Given the description of an element on the screen output the (x, y) to click on. 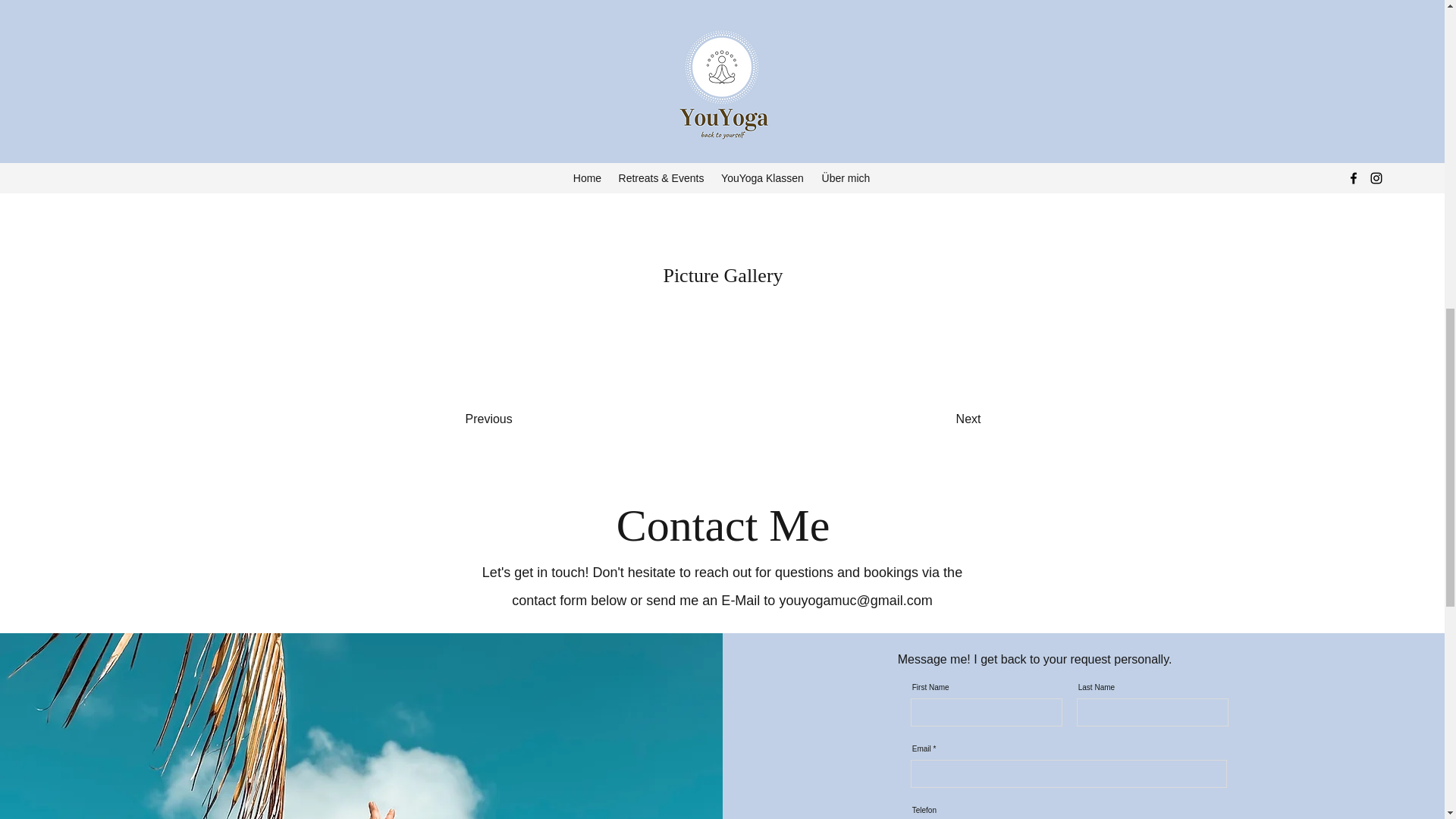
Booking (816, 154)
Next (928, 419)
Previous (526, 419)
